Given the description of an element on the screen output the (x, y) to click on. 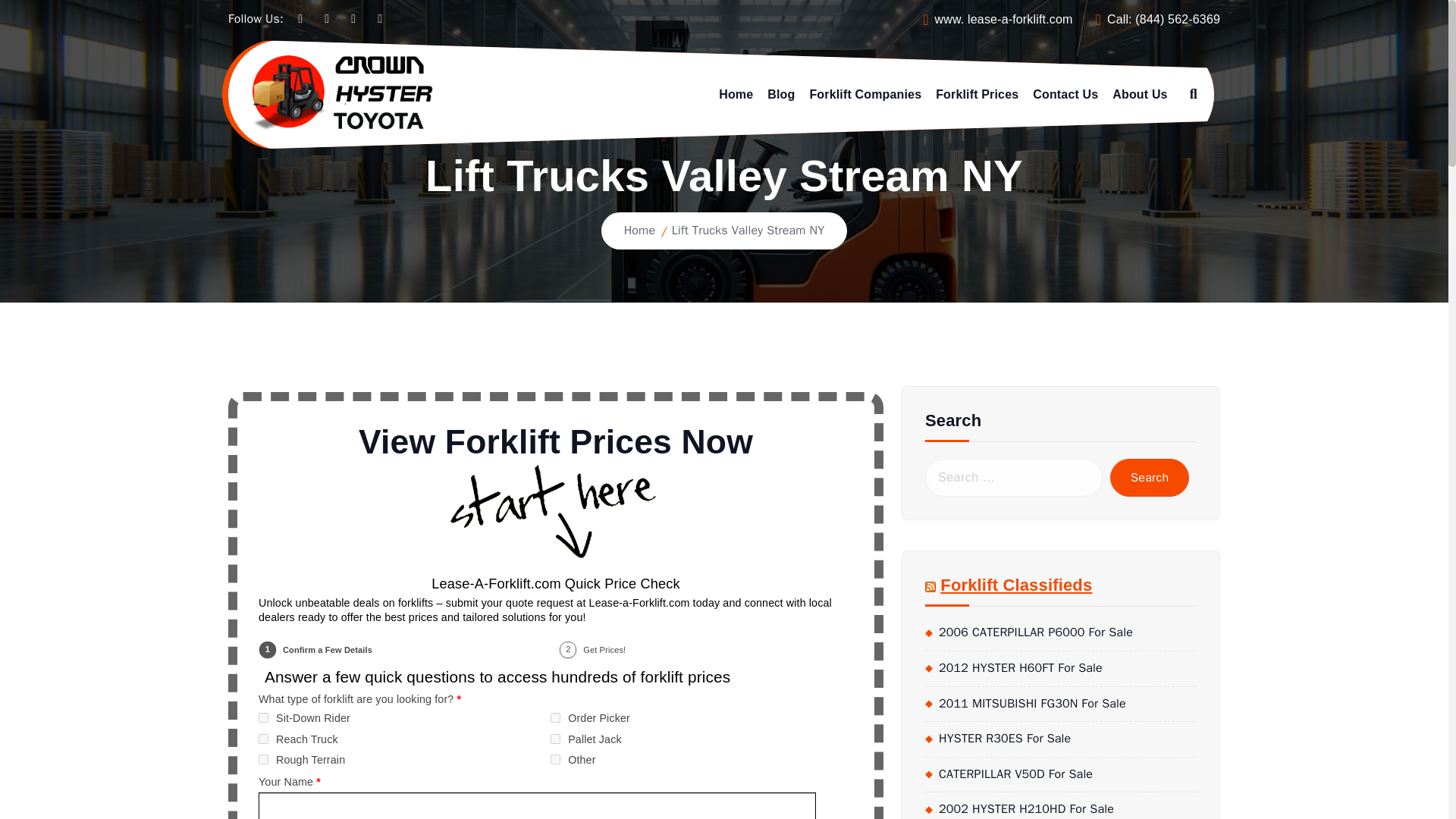
Contact Us (1064, 94)
Contact Us (1064, 94)
Forklift Prices (976, 94)
Search (1149, 477)
lease-a-forklift.com (1019, 19)
Lift Trucks Valley Stream NY (748, 230)
Search (1149, 477)
Forklift Prices (976, 94)
Forklift Companies (865, 94)
Home (640, 230)
Forklift Companies (865, 94)
